Given the description of an element on the screen output the (x, y) to click on. 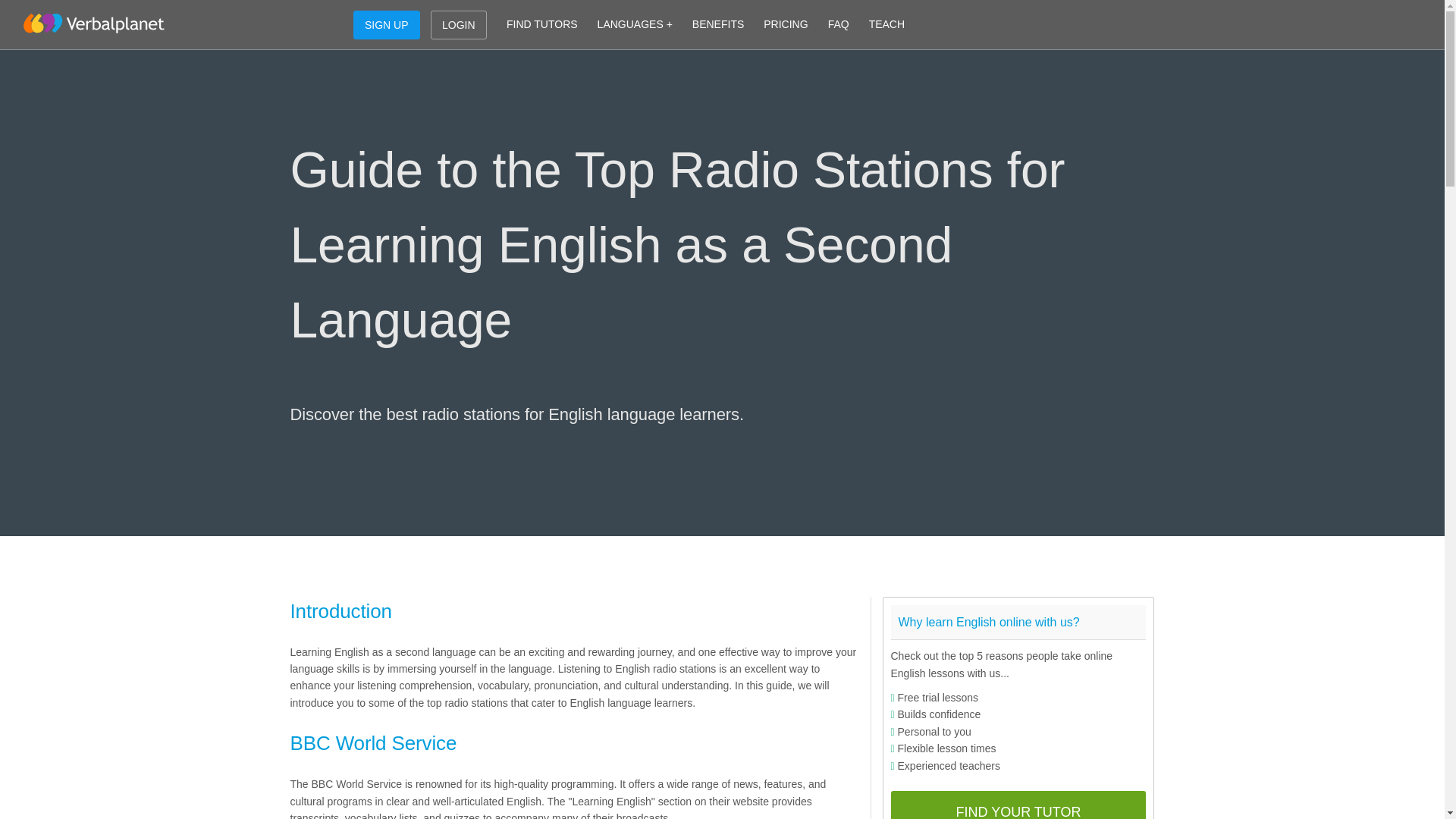
Home (93, 23)
LOGIN (458, 24)
FIND TUTORS (542, 24)
SIGN UP (386, 24)
